Given the description of an element on the screen output the (x, y) to click on. 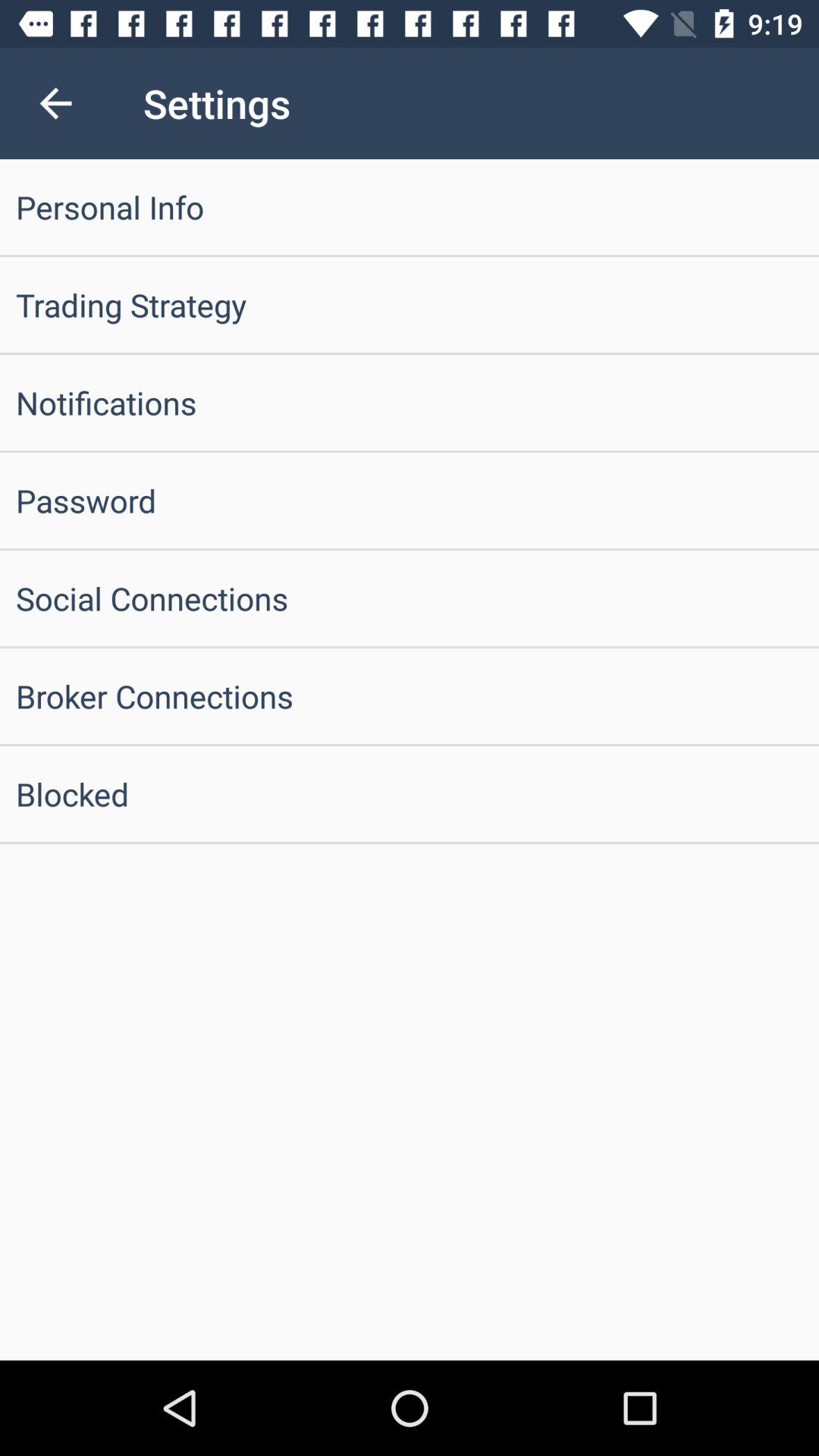
swipe until trading strategy icon (409, 304)
